Given the description of an element on the screen output the (x, y) to click on. 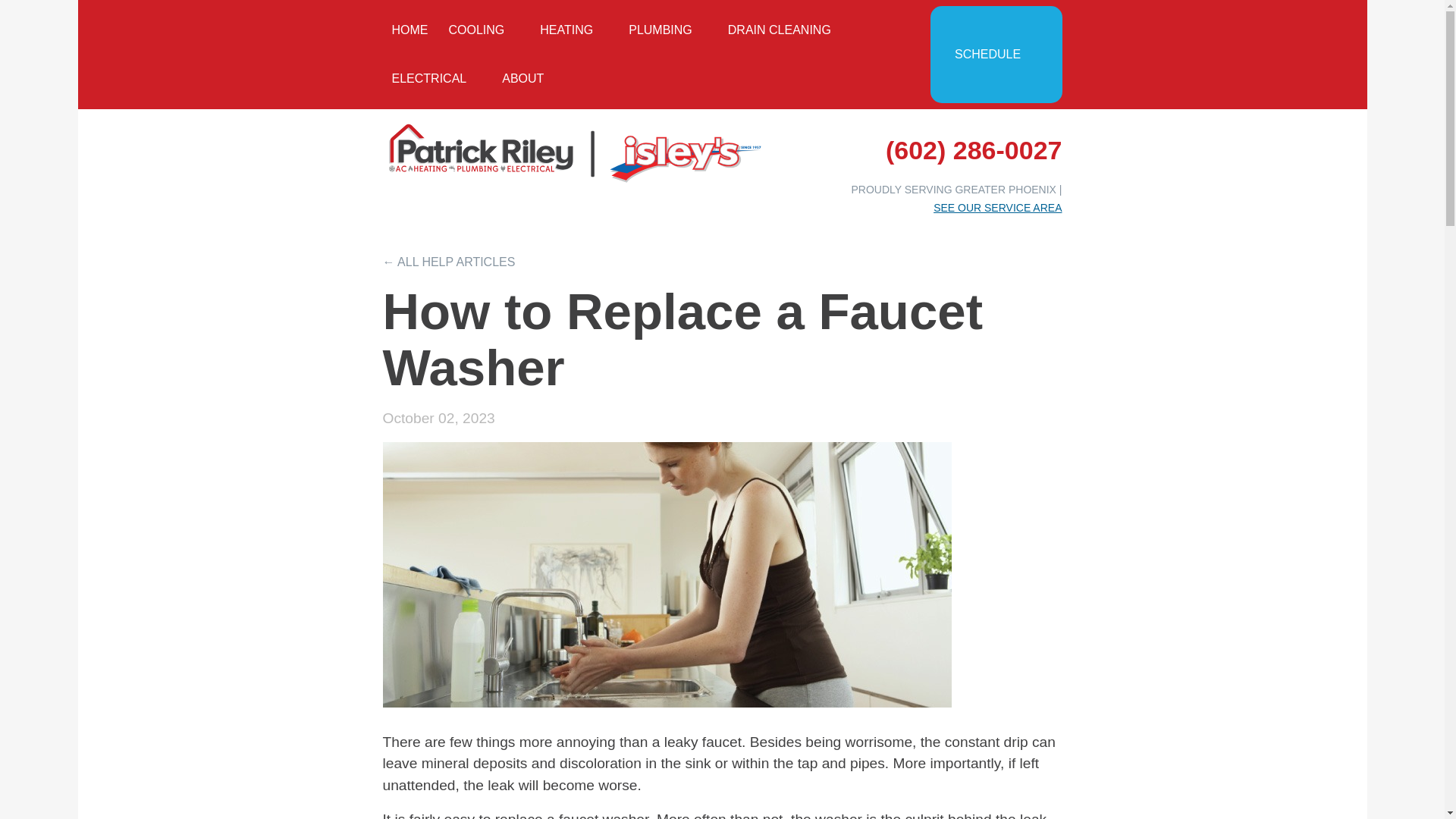
HOME (408, 29)
PLUMBING (668, 29)
DRAIN CLEANING (779, 29)
HEATING (574, 29)
ELECTRICAL (435, 78)
COOLING (484, 29)
